Given the description of an element on the screen output the (x, y) to click on. 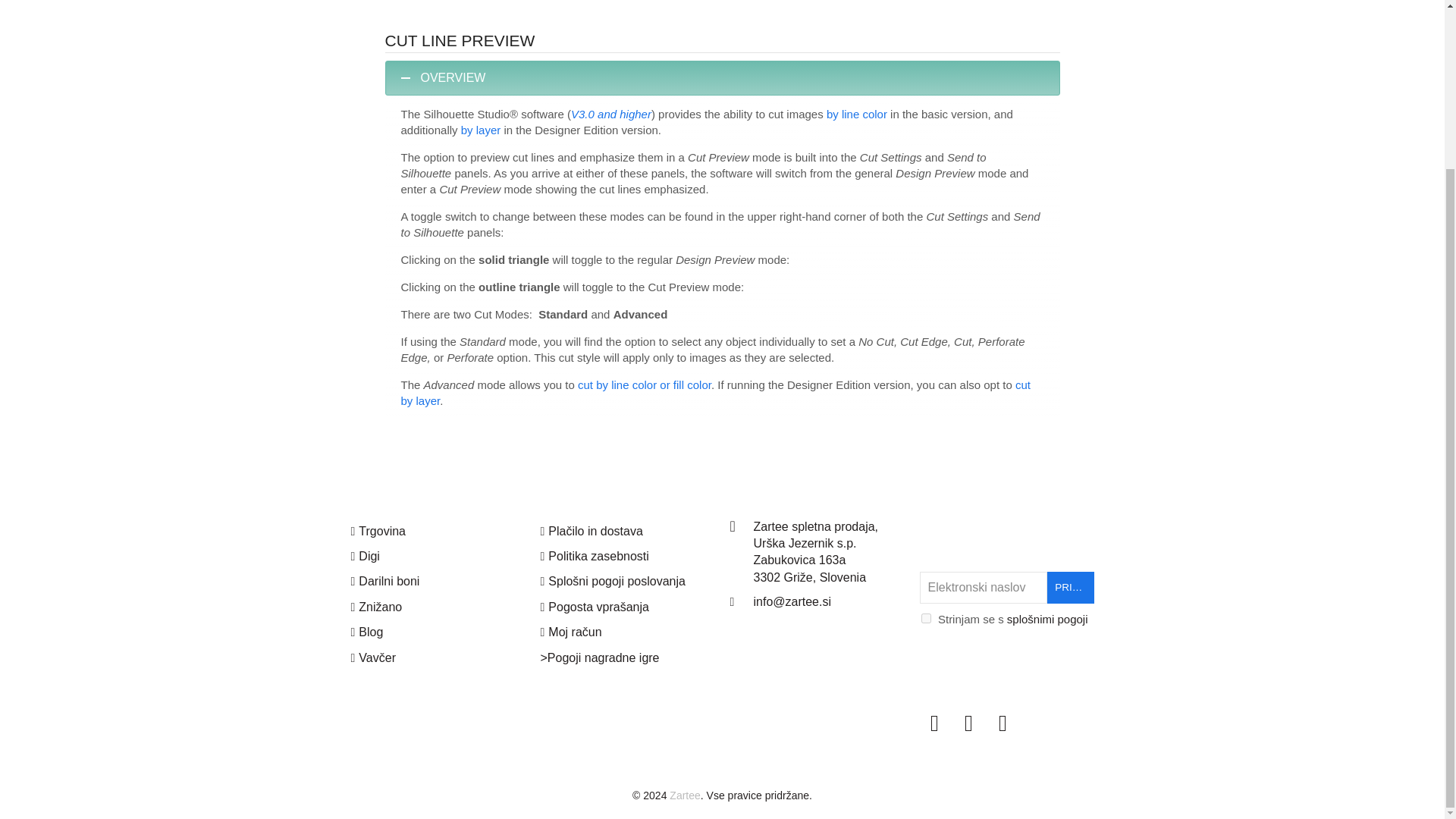
by layer (480, 129)
Digi (364, 555)
Trgovina (378, 530)
Darilni boni (384, 581)
OVERVIEW (721, 78)
Trgovina (378, 530)
by line color (856, 113)
Instagram (968, 723)
Blog (366, 631)
Blog (366, 631)
Digi (364, 555)
cut by line color or fill color (644, 384)
Pinterest (1002, 723)
Facebook (933, 723)
Politika zasebnosti (593, 555)
